Given the description of an element on the screen output the (x, y) to click on. 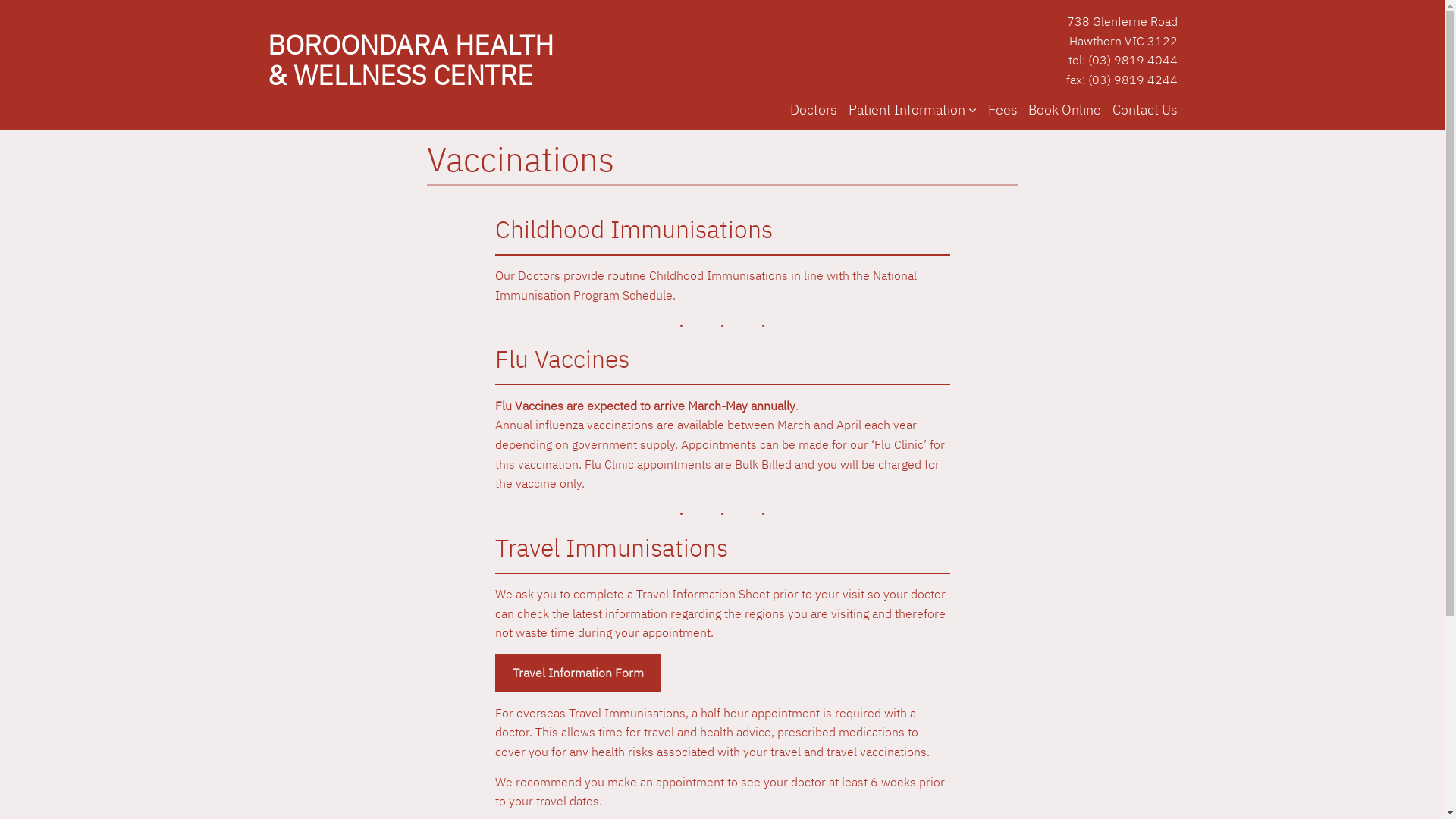
Patient Information Element type: text (906, 108)
Book Online Element type: text (1064, 108)
Contact Us Element type: text (1143, 108)
Travel Information Form Element type: text (577, 672)
Doctors Element type: text (813, 108)
BOROONDARA HEALTH
& WELLNESS CENTRE Element type: text (409, 59)
Fees Element type: text (1002, 108)
